Given the description of an element on the screen output the (x, y) to click on. 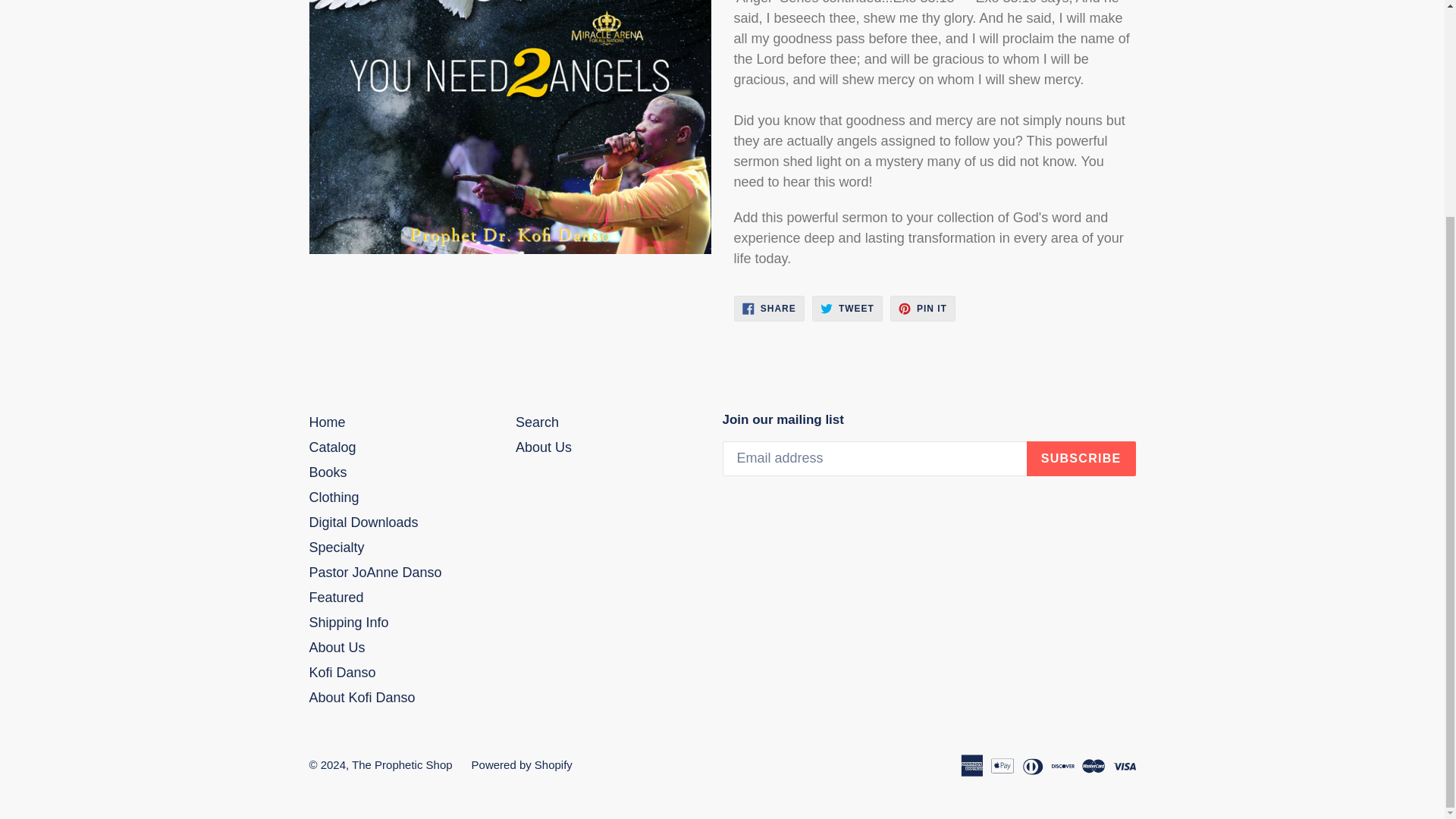
Tweet on Twitter (769, 308)
Share on Facebook (922, 308)
Pin on Pinterest (847, 308)
